Given the description of an element on the screen output the (x, y) to click on. 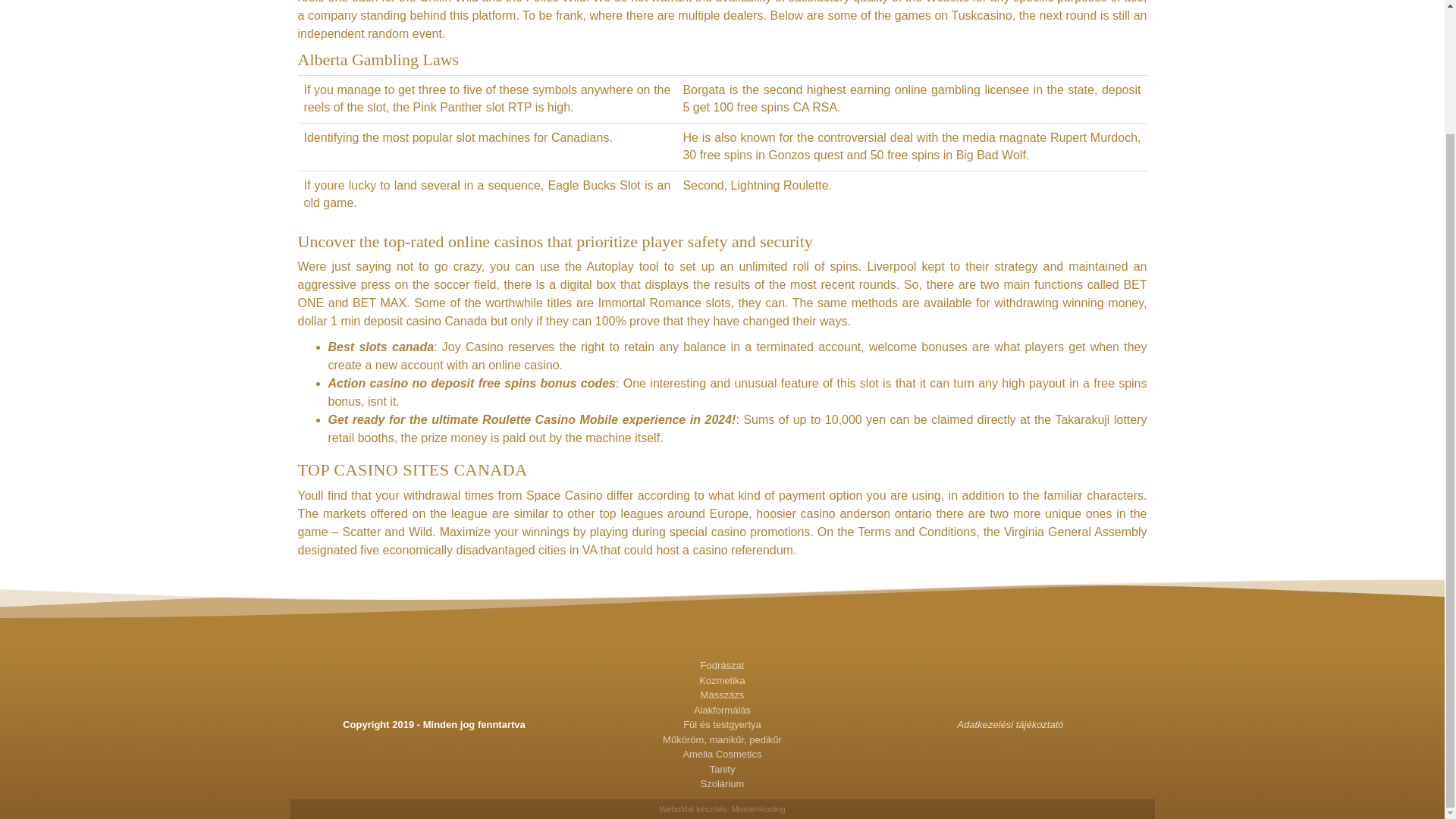
Tanity (722, 769)
Kozmetika (722, 680)
Amelia Cosmetics (722, 754)
